Given the description of an element on the screen output the (x, y) to click on. 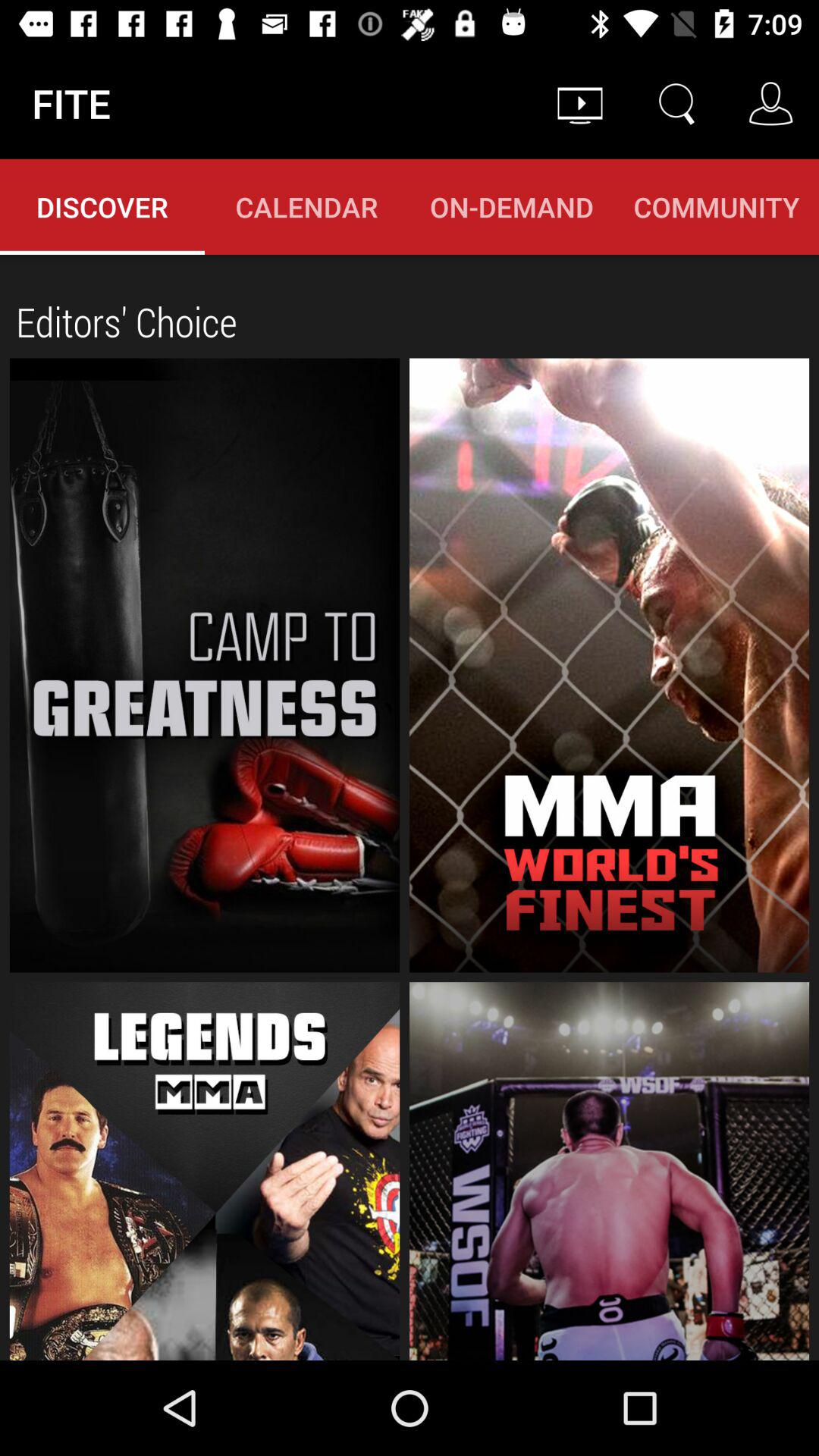
click the app to the right of fite item (579, 103)
